Given the description of an element on the screen output the (x, y) to click on. 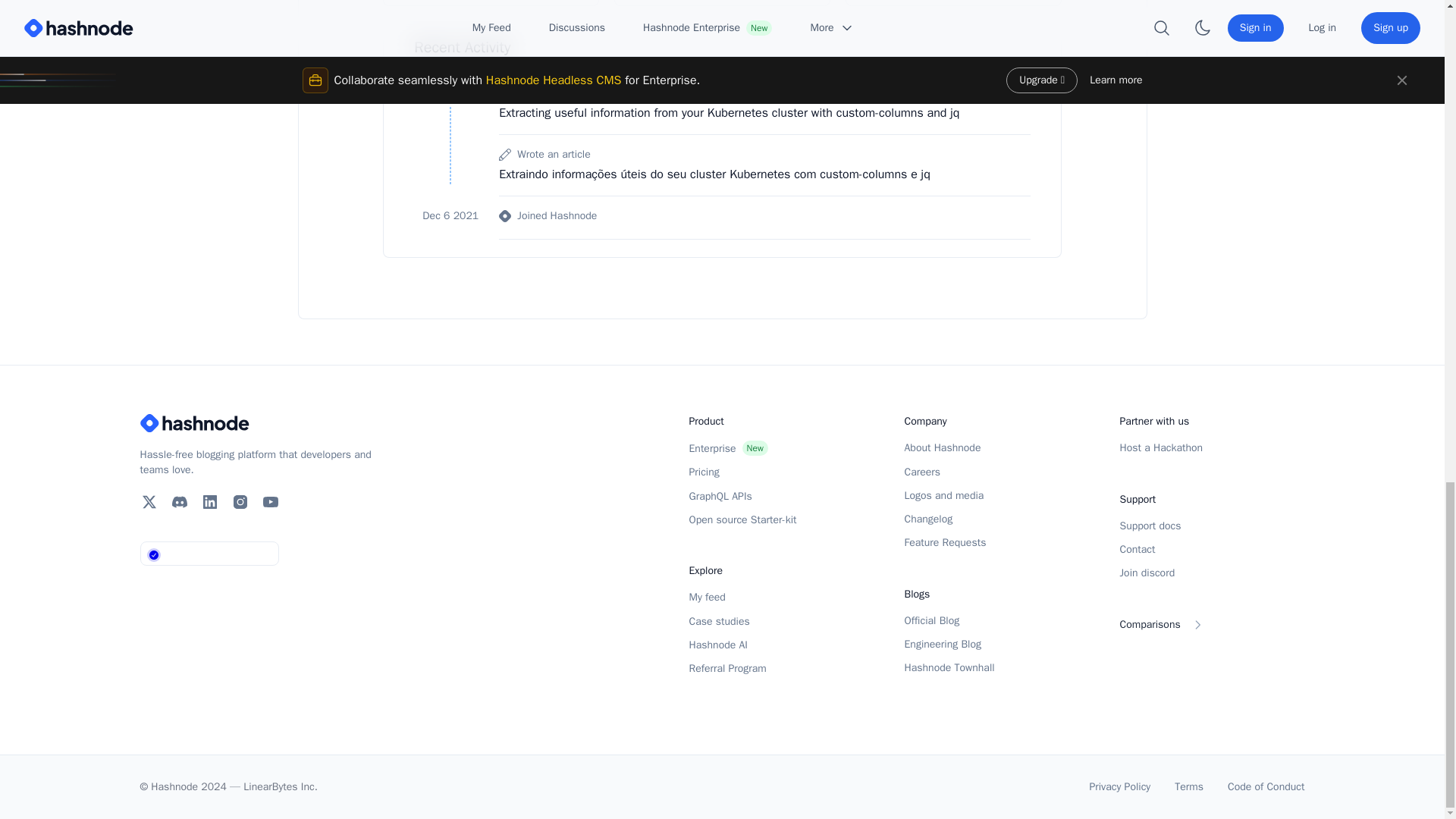
status (211, 553)
Hashnode (260, 423)
